Given the description of an element on the screen output the (x, y) to click on. 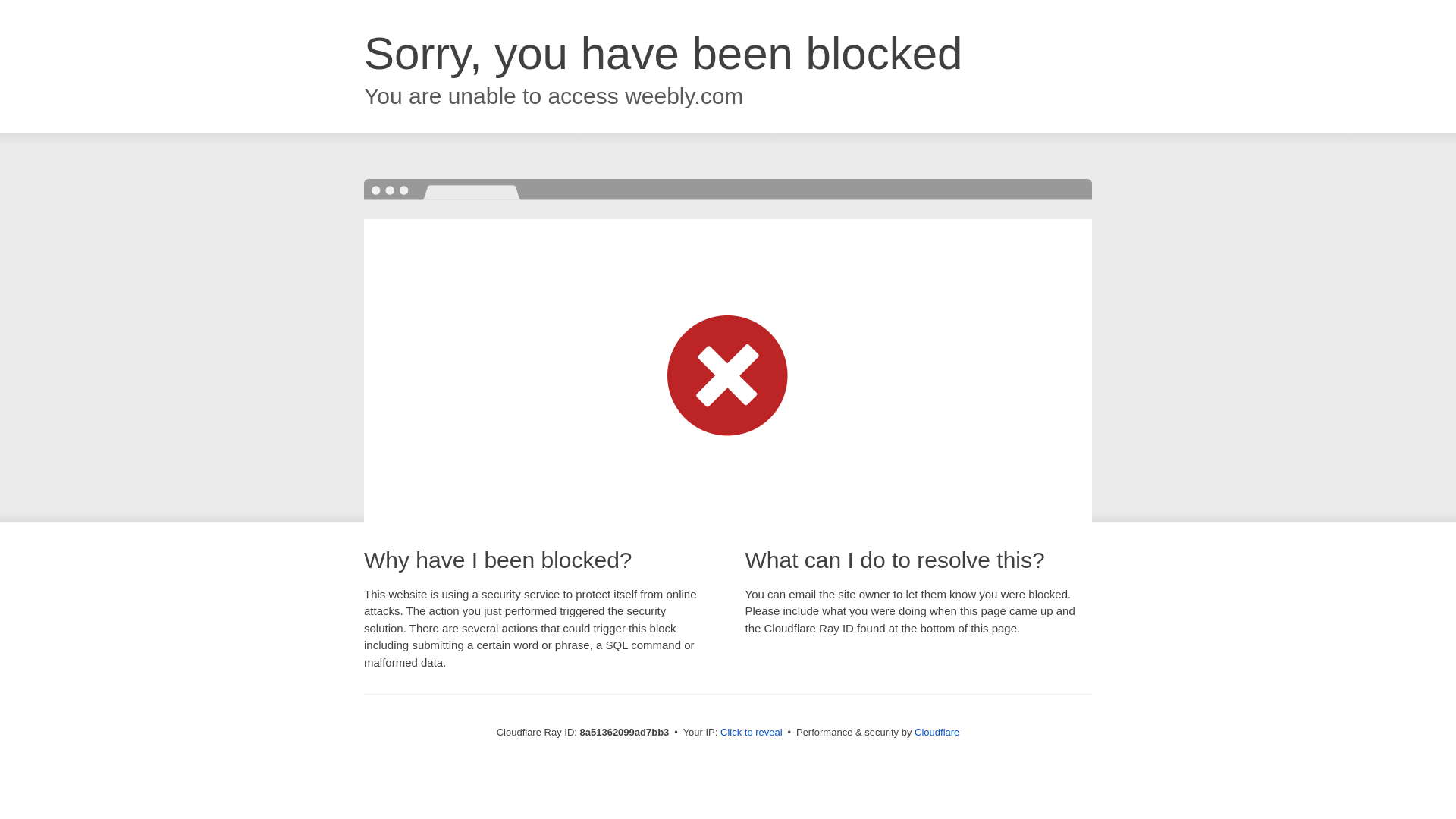
Click to reveal (751, 732)
Cloudflare (936, 731)
